Given the description of an element on the screen output the (x, y) to click on. 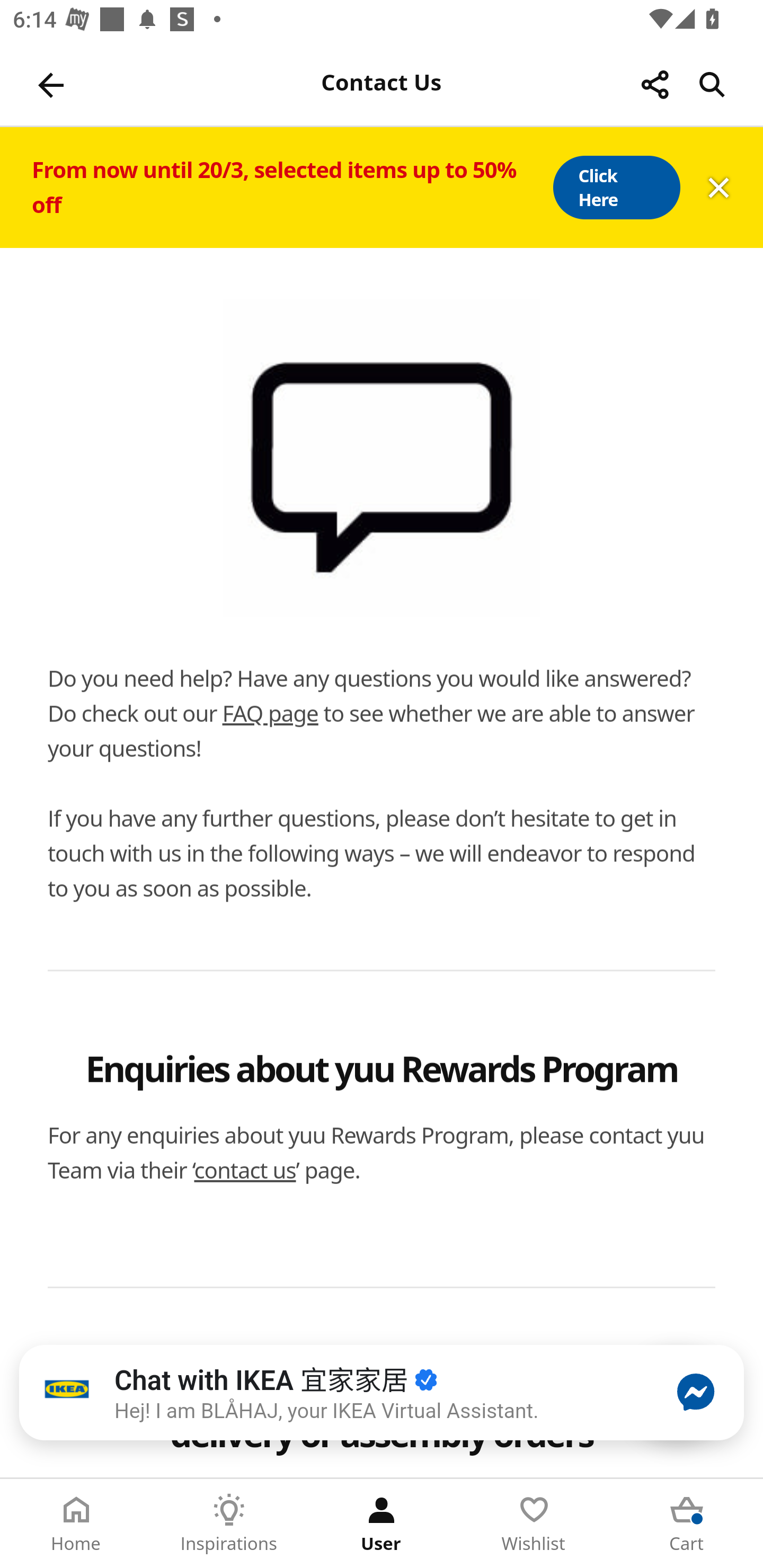
Click Here (615, 187)
FAQ page (270, 713)
contact us (245, 1169)
Home
Tab 1 of 5 (76, 1522)
Inspirations
Tab 2 of 5 (228, 1522)
User
Tab 3 of 5 (381, 1522)
Wishlist
Tab 4 of 5 (533, 1522)
Cart
Tab 5 of 5 (686, 1522)
